Given the description of an element on the screen output the (x, y) to click on. 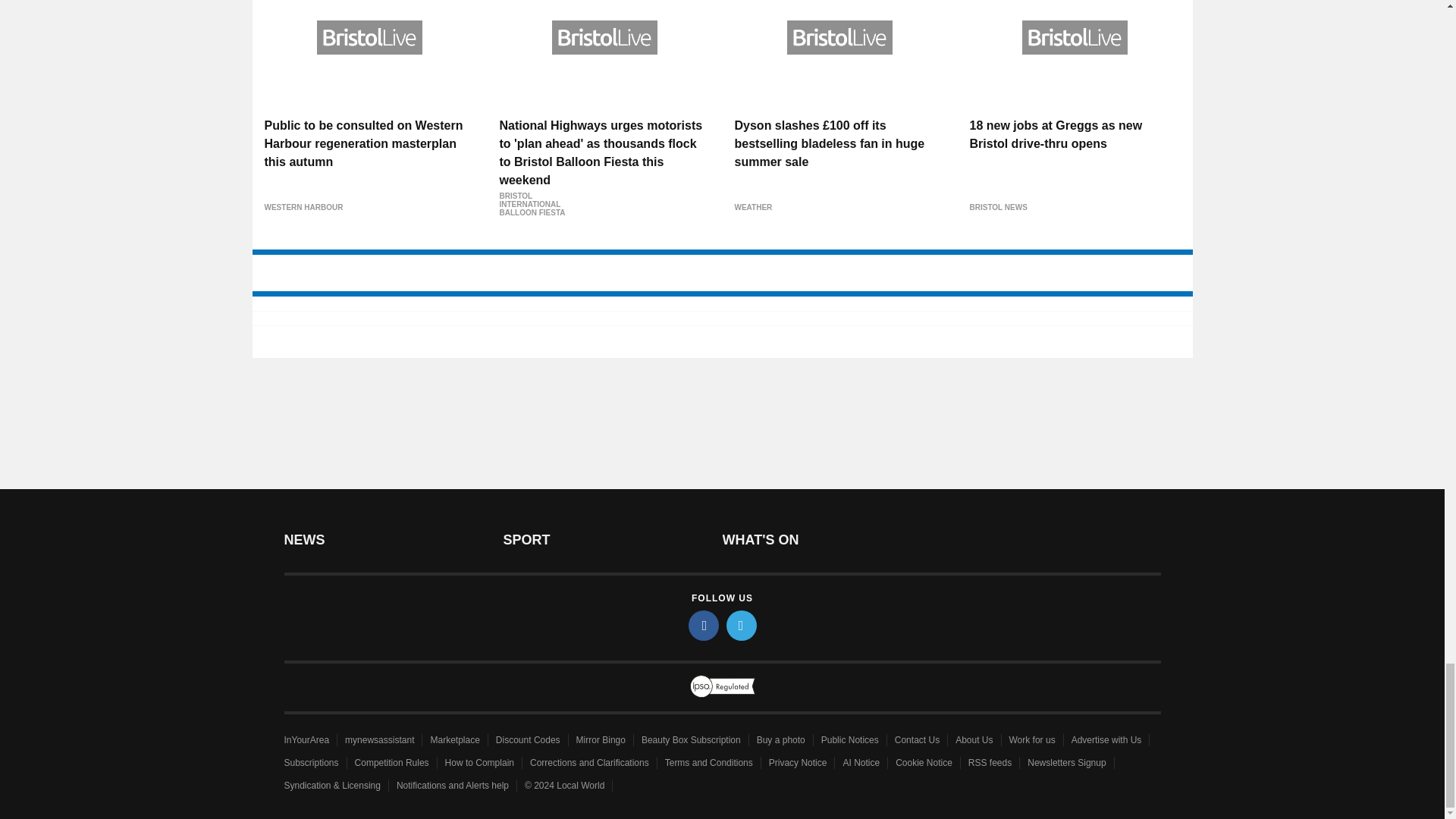
twitter (741, 625)
facebook (703, 625)
